Given the description of an element on the screen output the (x, y) to click on. 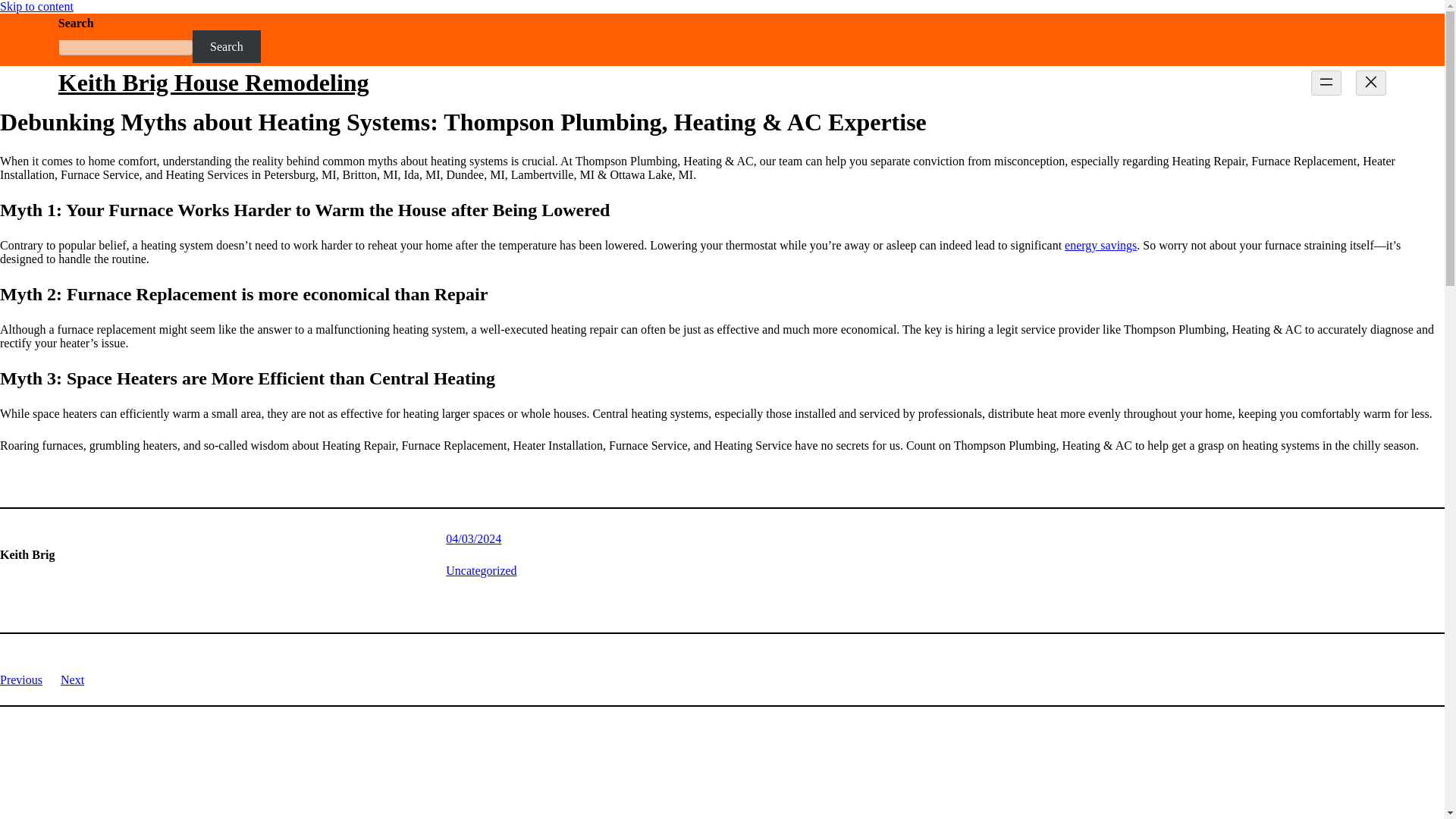
Next (72, 679)
Search (226, 46)
Keith Brig House Remodeling (213, 82)
energy savings (1100, 245)
Uncategorized (480, 570)
Previous (21, 679)
Skip to content (37, 6)
